Given the description of an element on the screen output the (x, y) to click on. 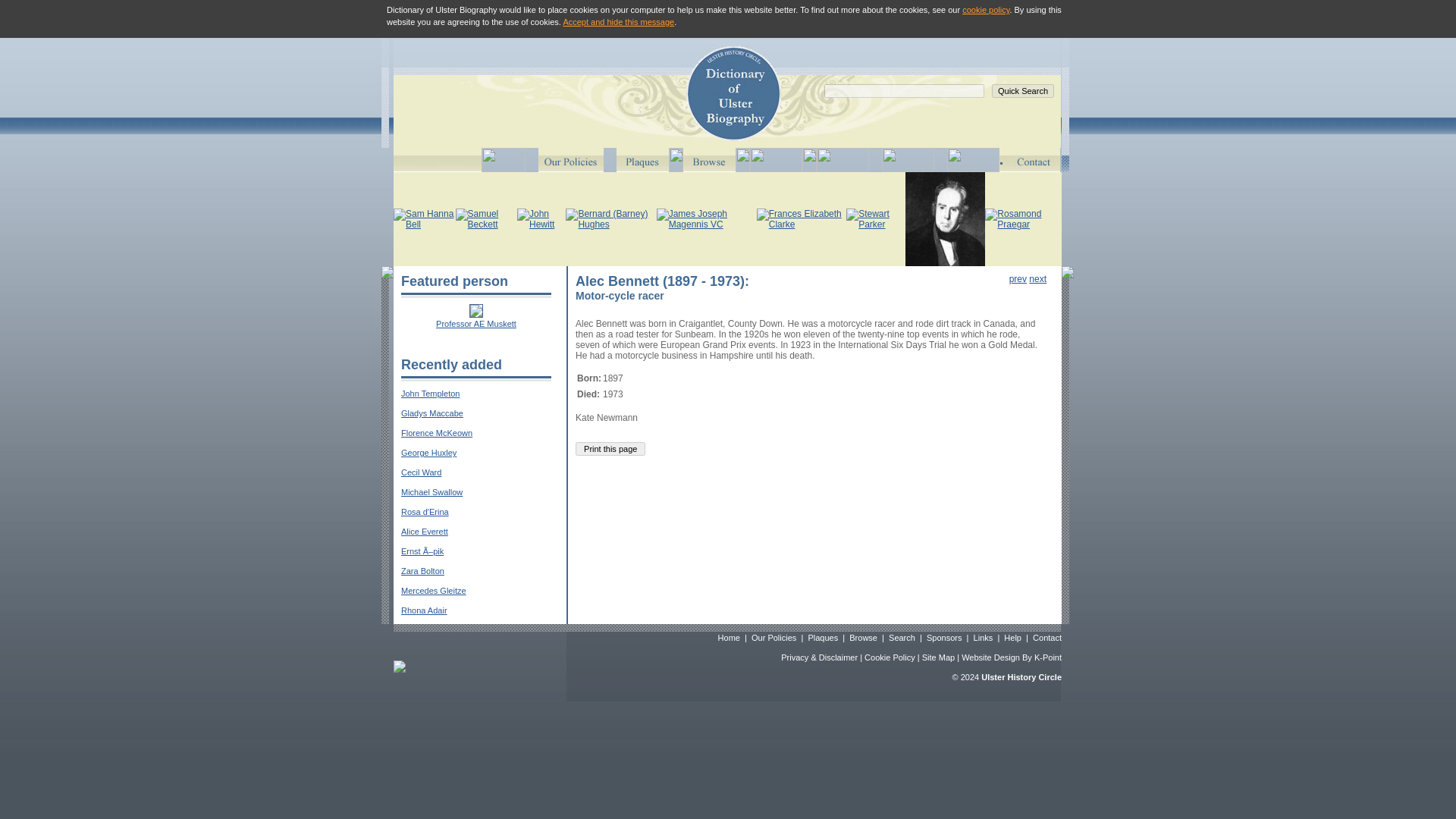
Michael Swallow (432, 491)
Frances Elizabeth Clarke (801, 219)
cookie policy (985, 9)
Accept and hide this message (618, 21)
prev (1017, 278)
 Print this page  (610, 448)
Rhona Adair (423, 610)
Stewart Parker (875, 219)
Home (728, 637)
Samuel Beckett (485, 219)
